Given the description of an element on the screen output the (x, y) to click on. 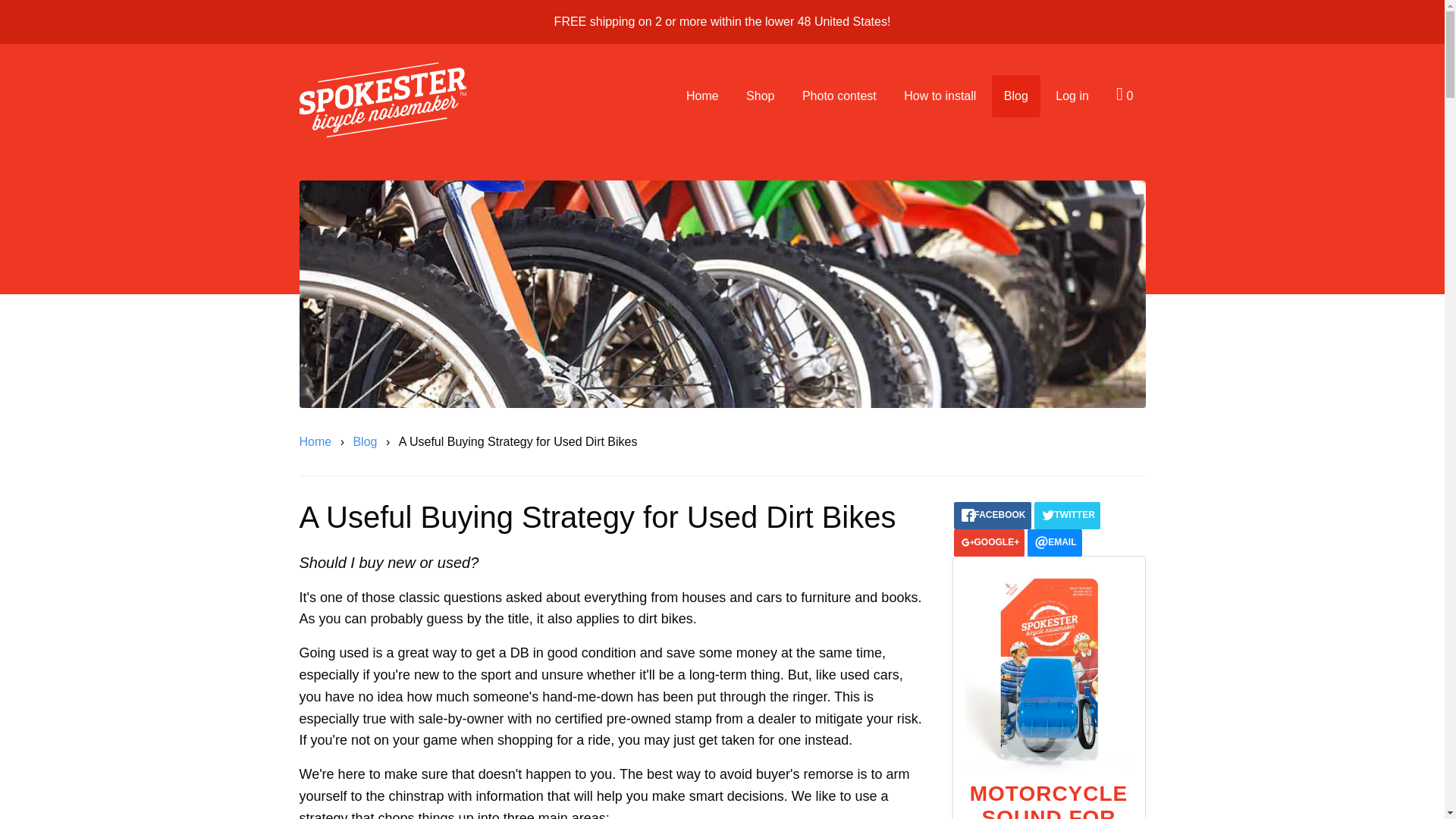
FACEBOOK (991, 515)
Shop (759, 96)
Blog (366, 442)
Spokester (381, 100)
Blog (1016, 96)
Home (702, 96)
How to install (939, 96)
Home (317, 442)
Log in (1071, 96)
Photo contest (839, 96)
Back to the home page (317, 442)
TWITTER (1066, 515)
0 (1123, 93)
